Given the description of an element on the screen output the (x, y) to click on. 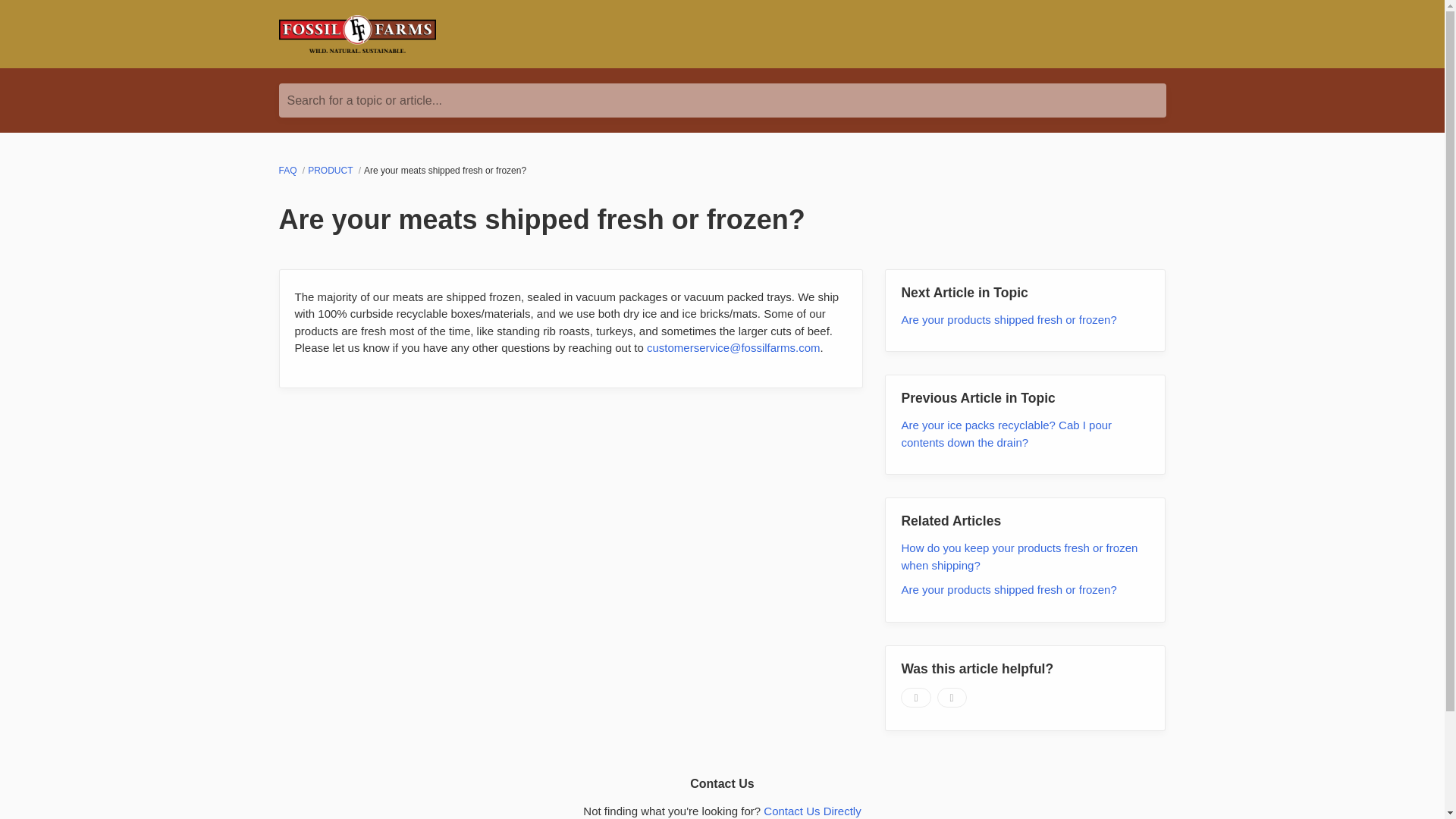
Are your products shipped fresh or frozen? (1008, 589)
How do you keep your products fresh or frozen when shipping? (1019, 556)
Contact Us Directly (811, 810)
Are your products shipped fresh or frozen? (1008, 318)
FAQ (289, 170)
PRODUCT (331, 170)
